Given the description of an element on the screen output the (x, y) to click on. 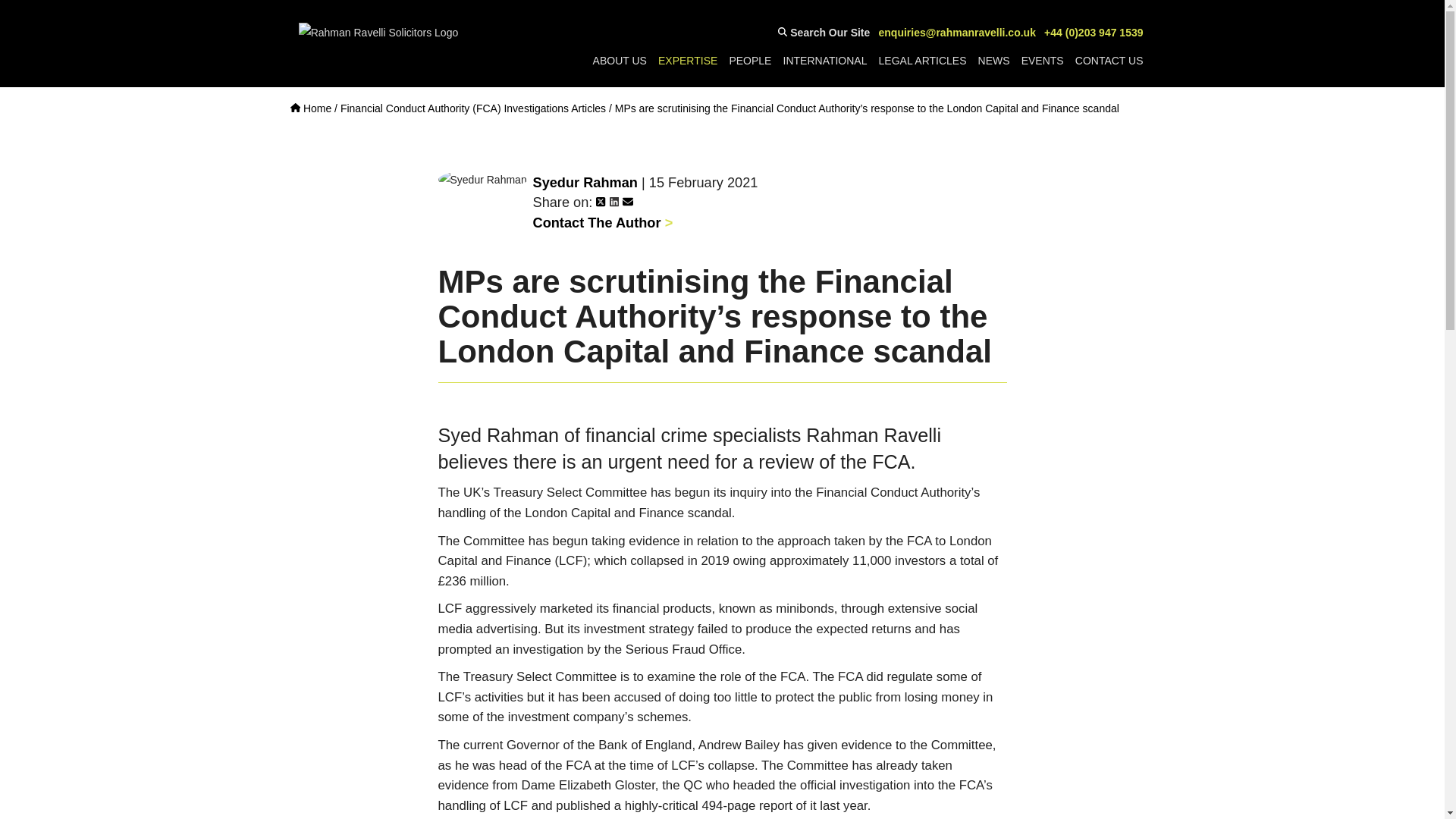
Link to search our site (823, 32)
View Syedur Rahman's Profile (584, 182)
Rahman Ravelli Solicitors Homepage (310, 108)
Link to author bio (602, 222)
